Given the description of an element on the screen output the (x, y) to click on. 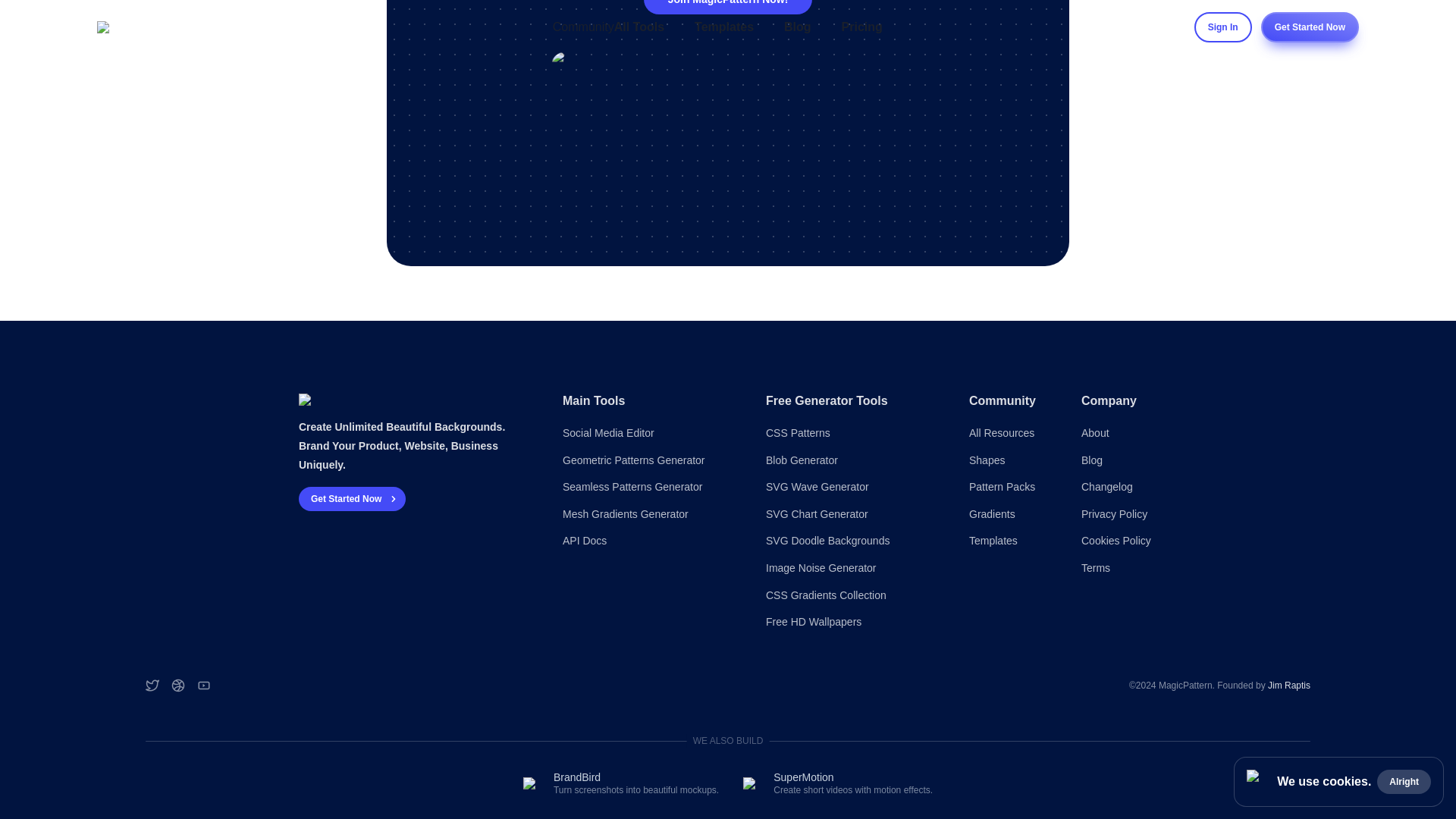
SVG Wave Generator (849, 487)
SVG Doodle Backgrounds (849, 540)
Get Started Now (352, 498)
Seamless Patterns Generator (645, 487)
Social Media Editor (645, 433)
Mesh Gradients Generator (645, 514)
Shapes (1007, 460)
CSS Patterns (849, 433)
Blob Generator (849, 460)
Get Started Now (352, 498)
Free HD Wallpapers (849, 622)
All Resources (1007, 433)
Geometric Patterns Generator (645, 460)
SVG Chart Generator (849, 514)
CSS Gradients Collection (849, 595)
